Given the description of an element on the screen output the (x, y) to click on. 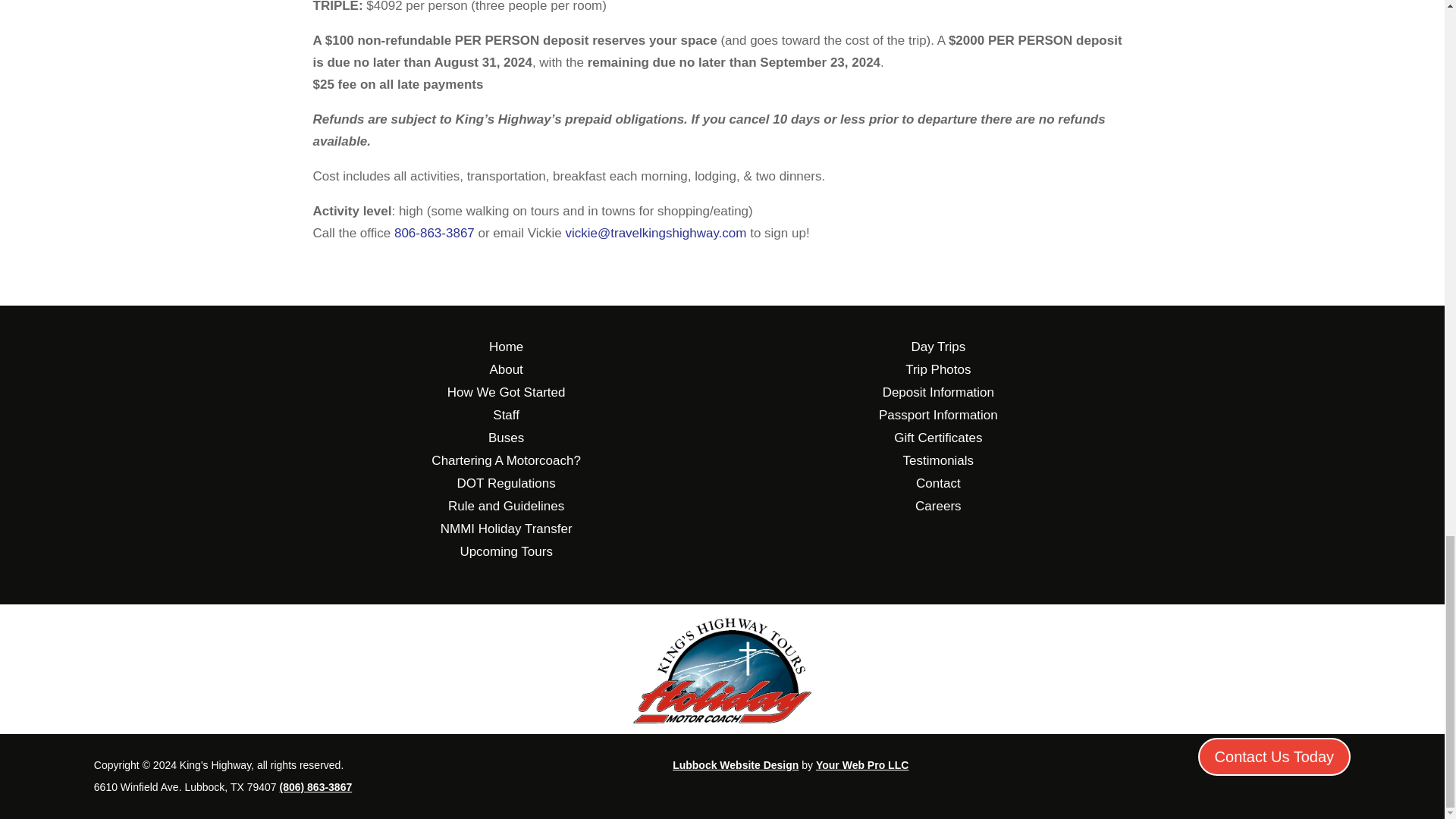
New Logo (721, 670)
